Given the description of an element on the screen output the (x, y) to click on. 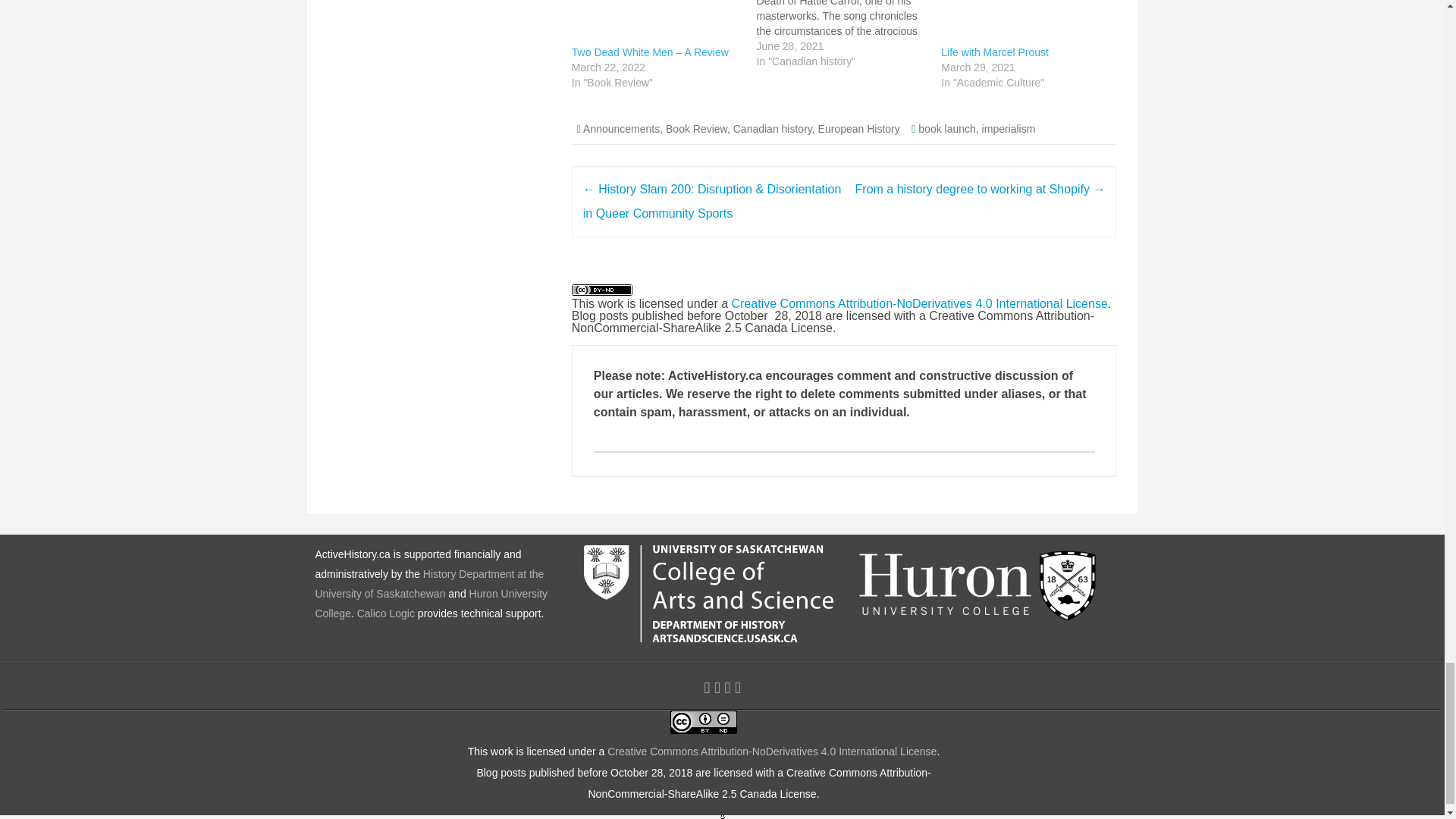
Life with Marcel Proust (994, 51)
Life with Marcel Proust (994, 51)
Life with Marcel Proust (1025, 22)
